Given the description of an element on the screen output the (x, y) to click on. 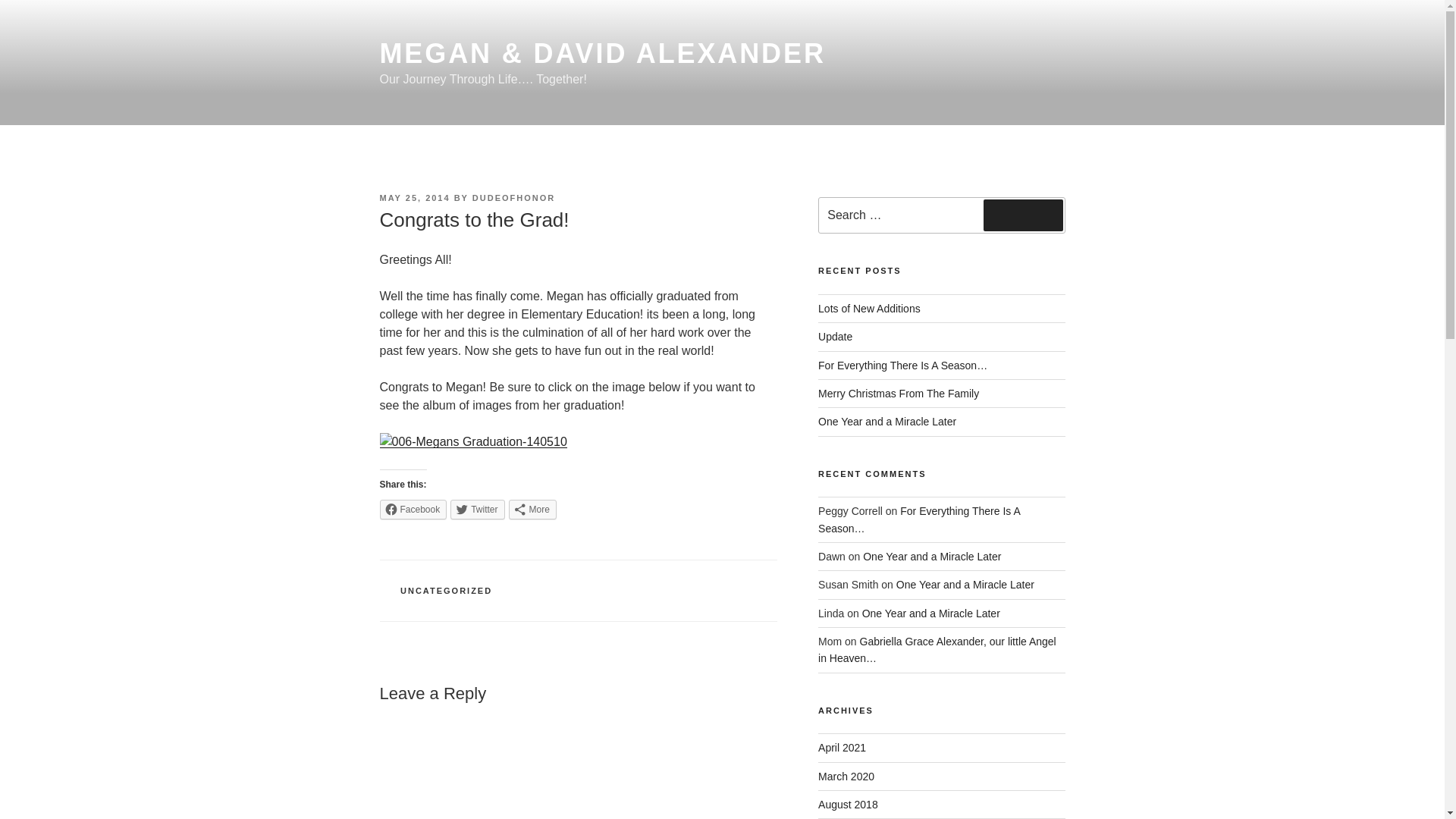
August 2018 (847, 804)
Search (1023, 214)
April 2021 (842, 747)
One Year and a Miracle Later (930, 613)
Update (834, 336)
Lots of New Additions (869, 308)
UNCATEGORIZED (446, 590)
March 2020 (846, 776)
One Year and a Miracle Later (964, 584)
DUDEOFHONOR (512, 197)
Merry Christmas From The Family (898, 393)
Click to share on Facebook (412, 509)
More (532, 509)
Click to share on Twitter (476, 509)
Facebook (412, 509)
